Given the description of an element on the screen output the (x, y) to click on. 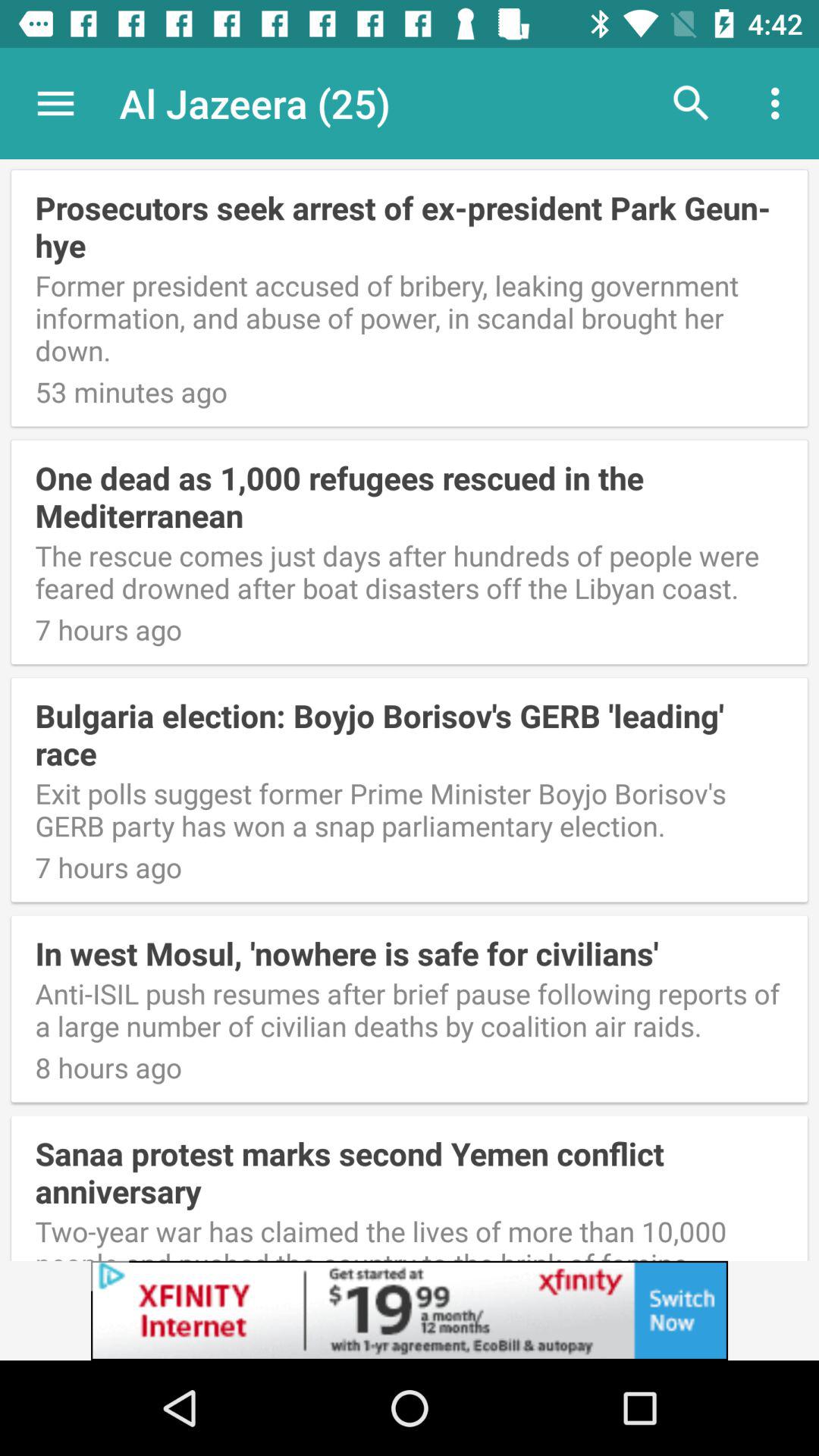
advertisement image link (409, 1310)
